Given the description of an element on the screen output the (x, y) to click on. 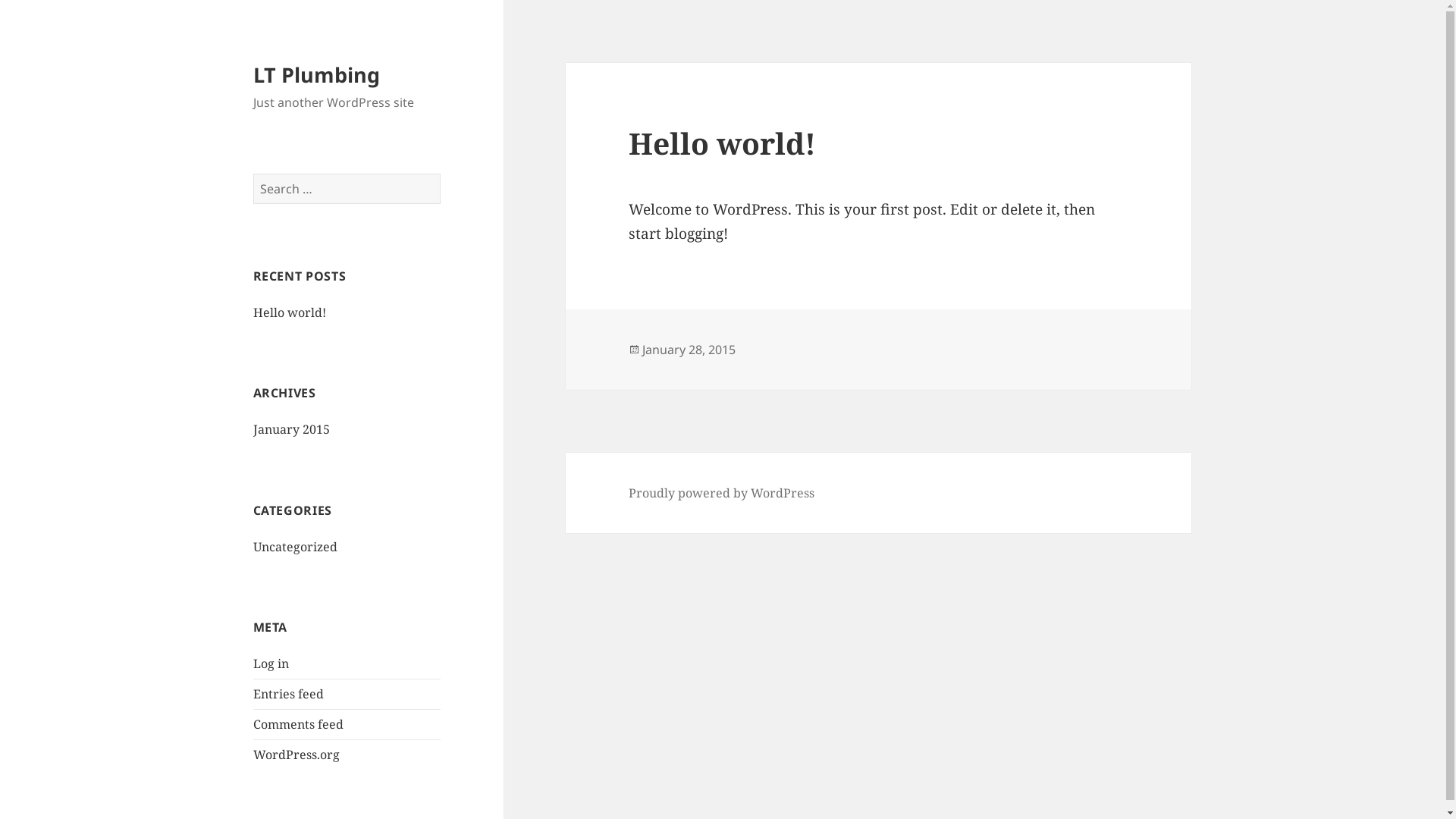
Log in Element type: text (270, 663)
WordPress.org Element type: text (296, 754)
Uncategorized Element type: text (295, 546)
January 2015 Element type: text (291, 428)
Entries feed Element type: text (288, 693)
January 28, 2015 Element type: text (688, 349)
LT Plumbing Element type: text (316, 74)
Comments feed Element type: text (298, 723)
Hello world! Element type: text (721, 142)
Search Element type: text (440, 173)
Hello world! Element type: text (289, 312)
Proudly powered by WordPress Element type: text (721, 493)
